Given the description of an element on the screen output the (x, y) to click on. 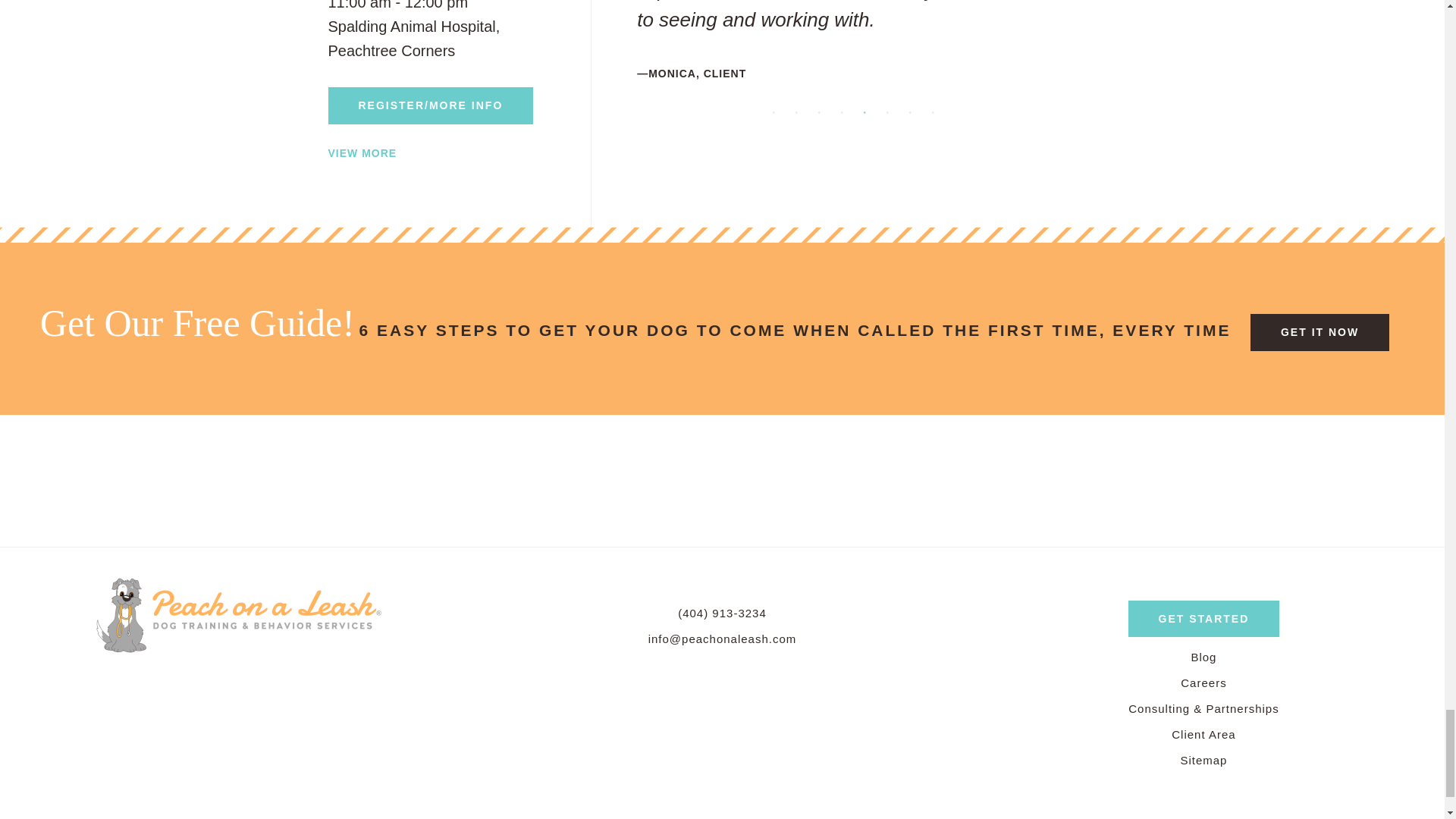
VIEW MORE (361, 152)
Peach on a Leash (239, 613)
